Given the description of an element on the screen output the (x, y) to click on. 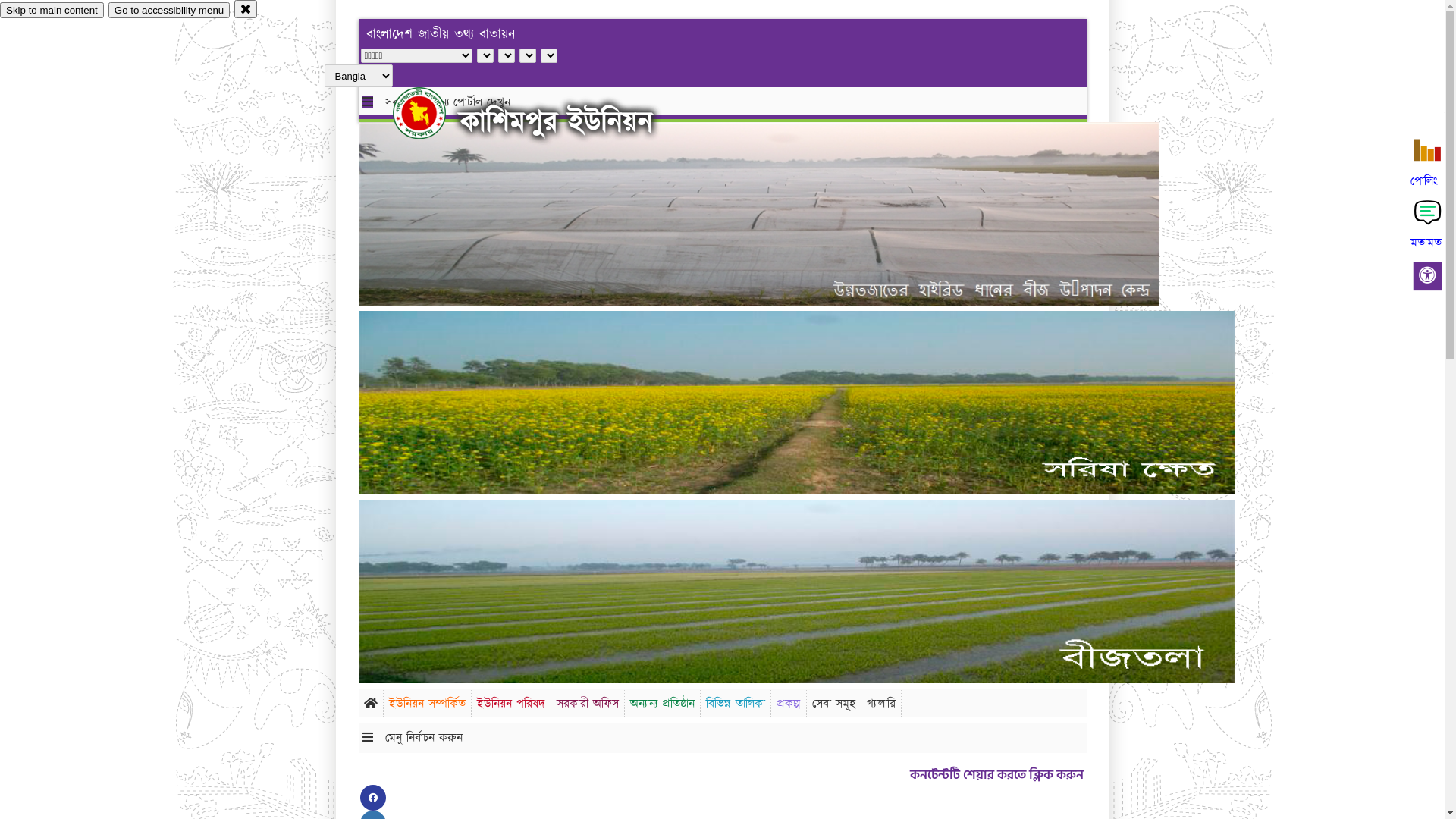

                
             Element type: hover (431, 112)
Go to accessibility menu Element type: text (168, 10)
close Element type: hover (245, 9)
Skip to main content Element type: text (51, 10)
